Given the description of an element on the screen output the (x, y) to click on. 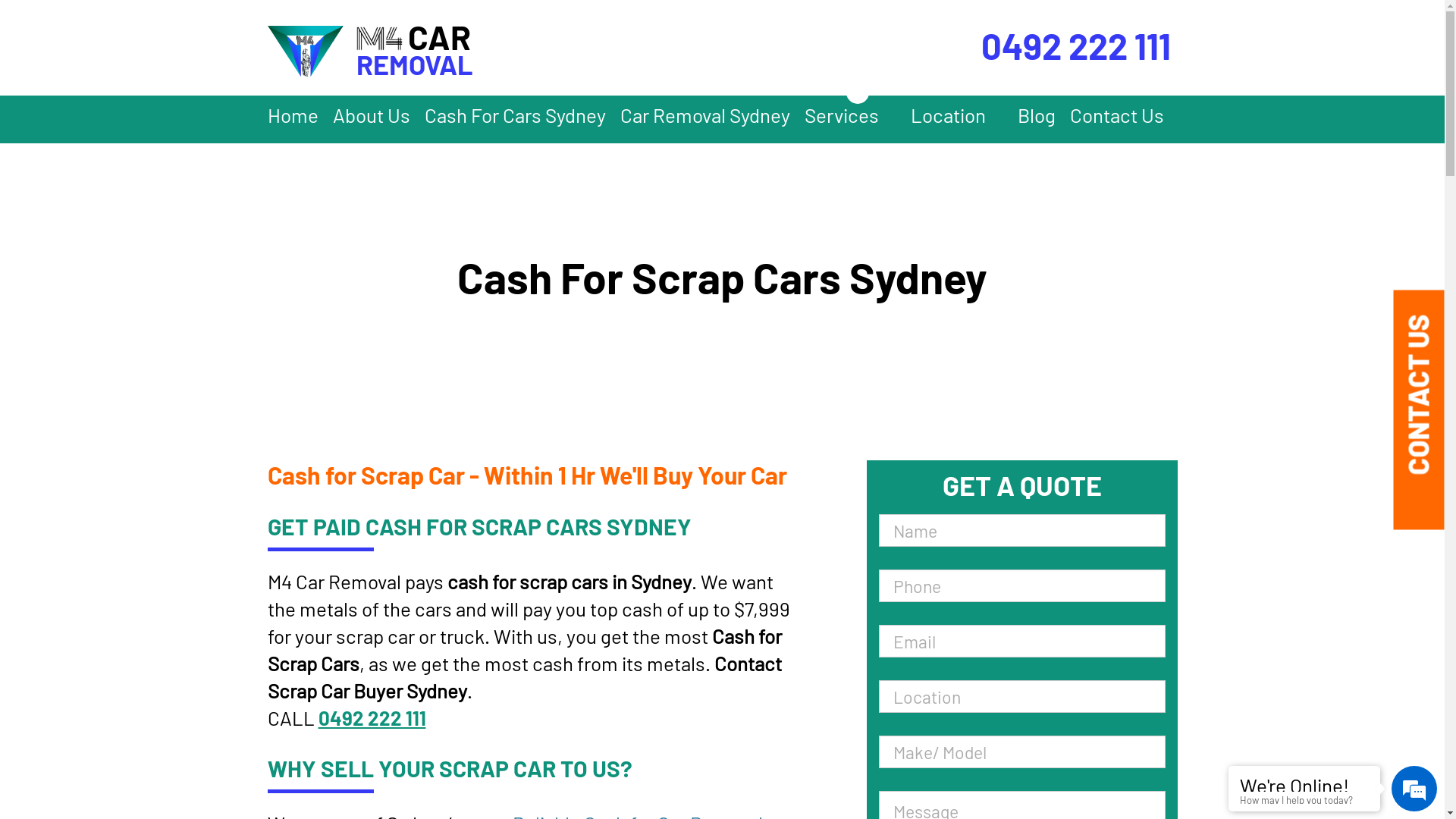
CAR
REMOVAL Element type: text (420, 51)
About Us Element type: text (370, 119)
0492 222 111 Element type: text (1060, 48)
Contact Us Element type: text (1116, 119)
Services Element type: text (849, 119)
Location Element type: text (956, 119)
Cash For Cars Sydney Element type: text (514, 119)
0492 222 111 Element type: text (372, 717)
Car Removal Sydney Element type: text (705, 119)
M4 Car removal Element type: hover (379, 38)
M4 Car removal Element type: hover (304, 51)
Blog Element type: text (1036, 119)
Home Element type: text (291, 119)
Close Element type: text (857, 92)
